Given the description of an element on the screen output the (x, y) to click on. 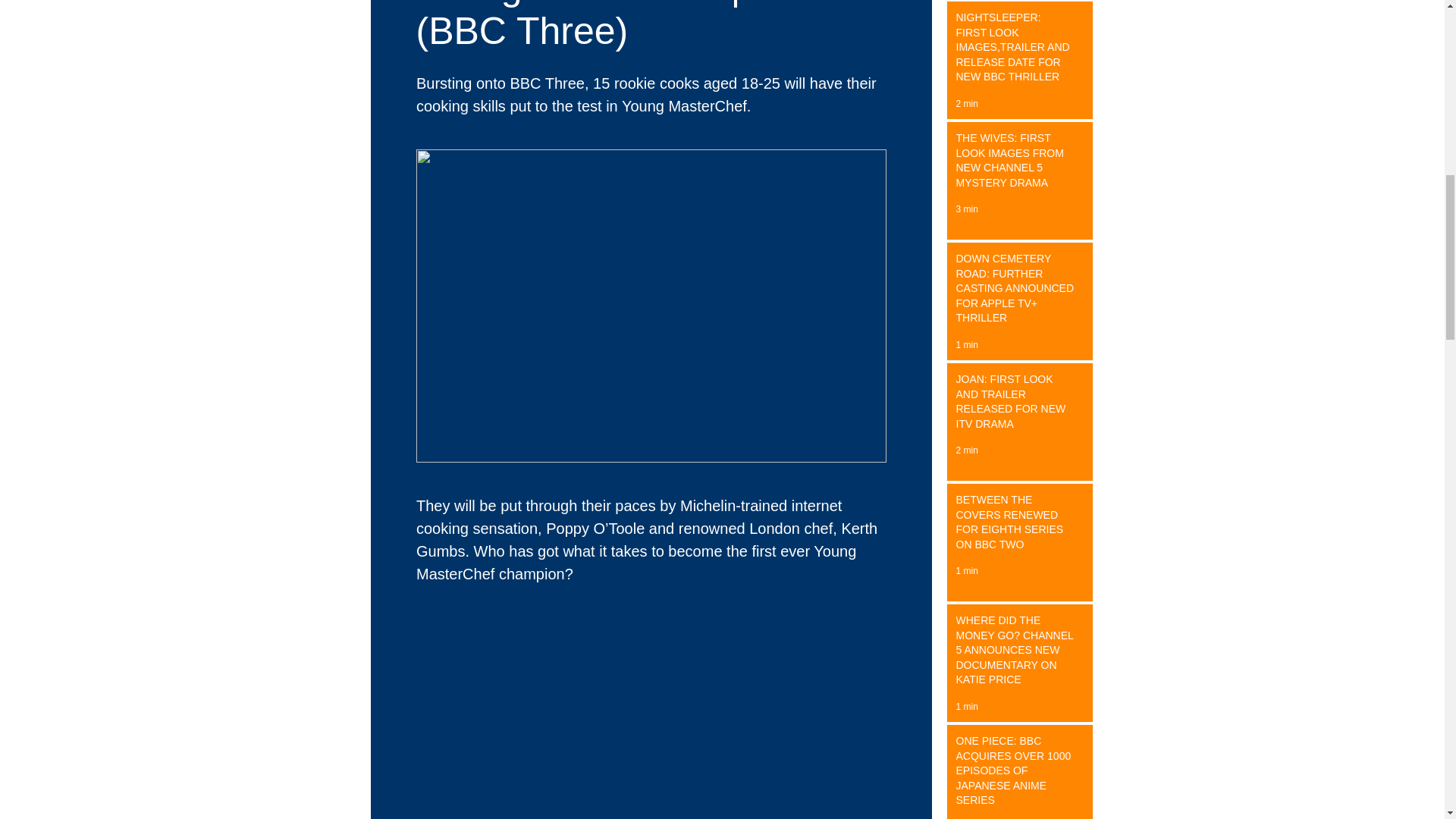
JOAN: FIRST LOOK AND TRAILER RELEASED FOR NEW ITV DRAMA (1014, 404)
2 min (965, 103)
1 min (965, 570)
3 min (965, 208)
2 min (965, 450)
1 min (965, 706)
